Given the description of an element on the screen output the (x, y) to click on. 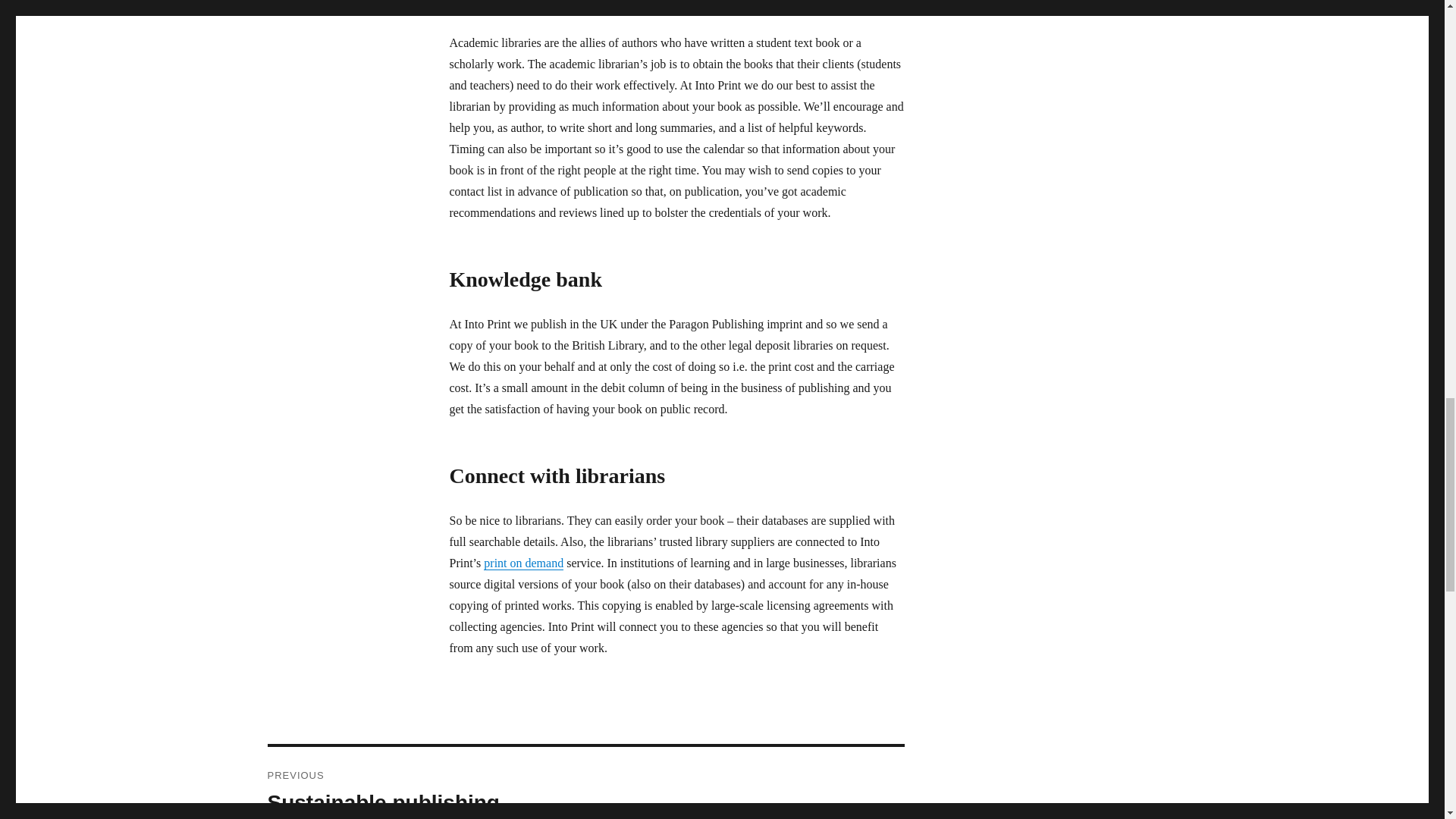
print on demand (523, 562)
